Given the description of an element on the screen output the (x, y) to click on. 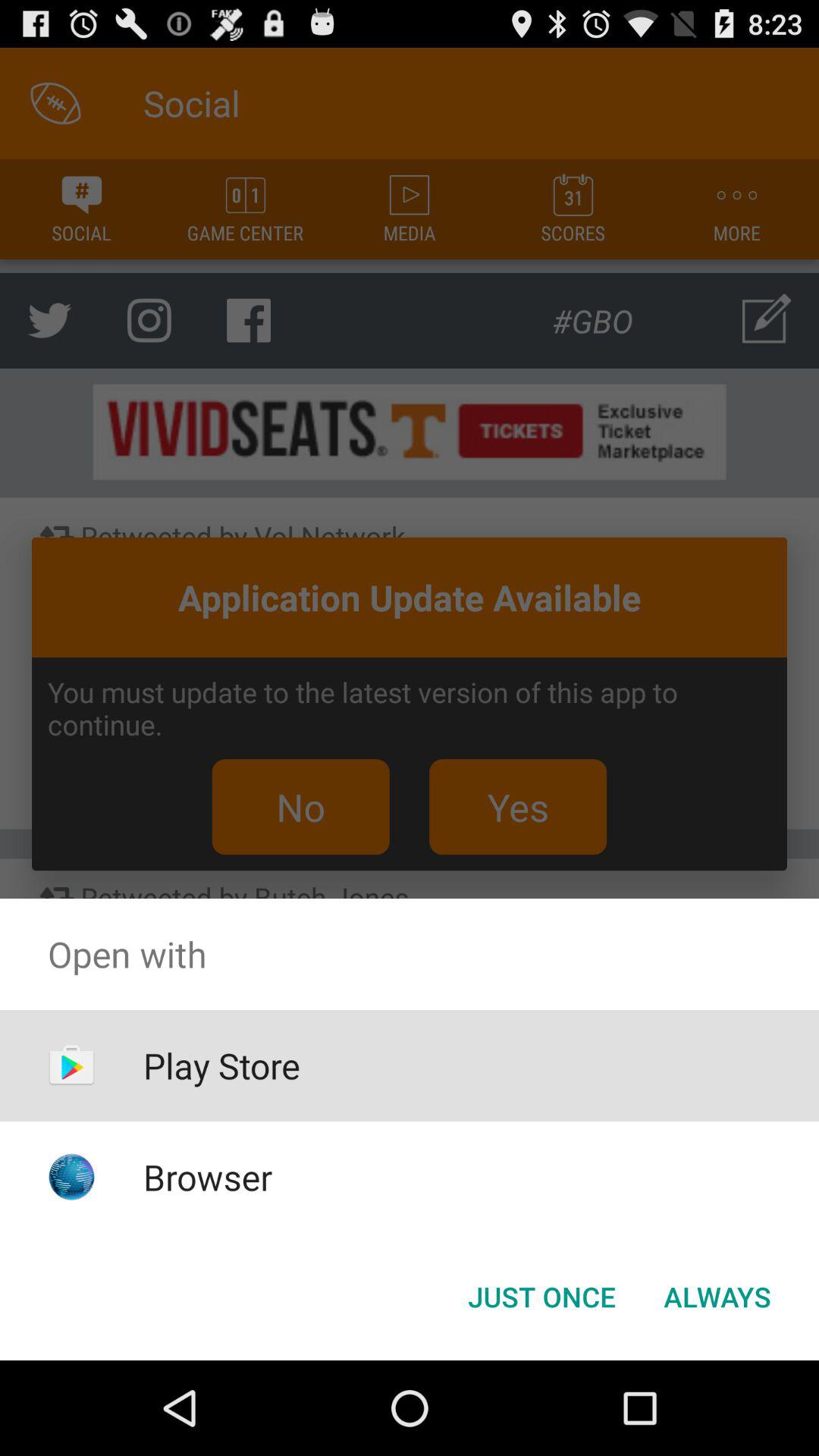
press app above browser icon (221, 1065)
